Given the description of an element on the screen output the (x, y) to click on. 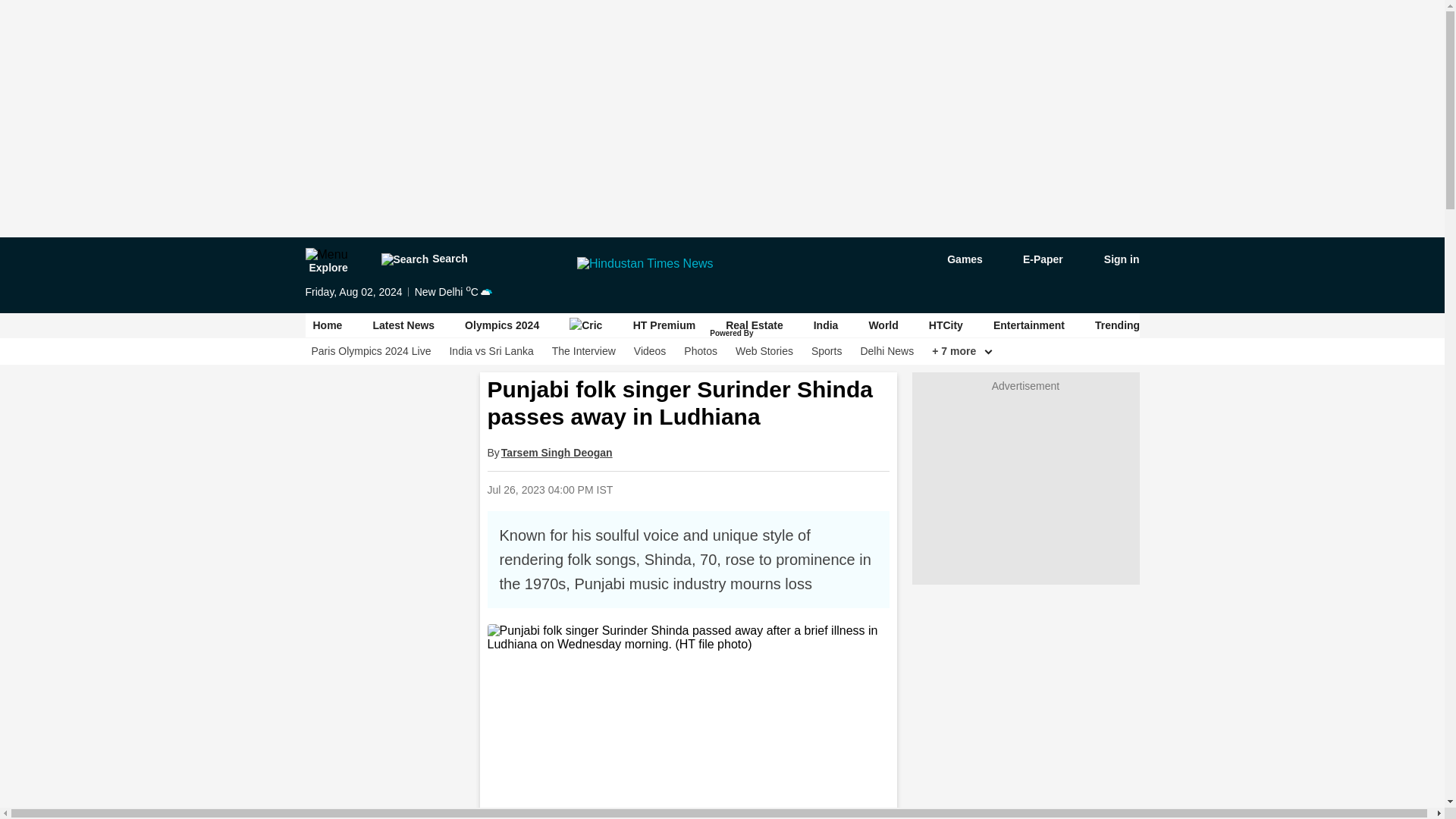
Paris Olympics 2024 Live (370, 350)
India vs Sri Lanka (490, 350)
Share on Linkdin (788, 488)
Delhi News (887, 350)
HTCity (945, 325)
Astrology (1195, 325)
E-Paper (1034, 258)
Crickit (585, 324)
Entertainment (1028, 325)
game (954, 258)
Home (327, 325)
Web Stories (764, 350)
Videos (649, 350)
Share on Twitter (749, 488)
Education (1348, 325)
